Given the description of an element on the screen output the (x, y) to click on. 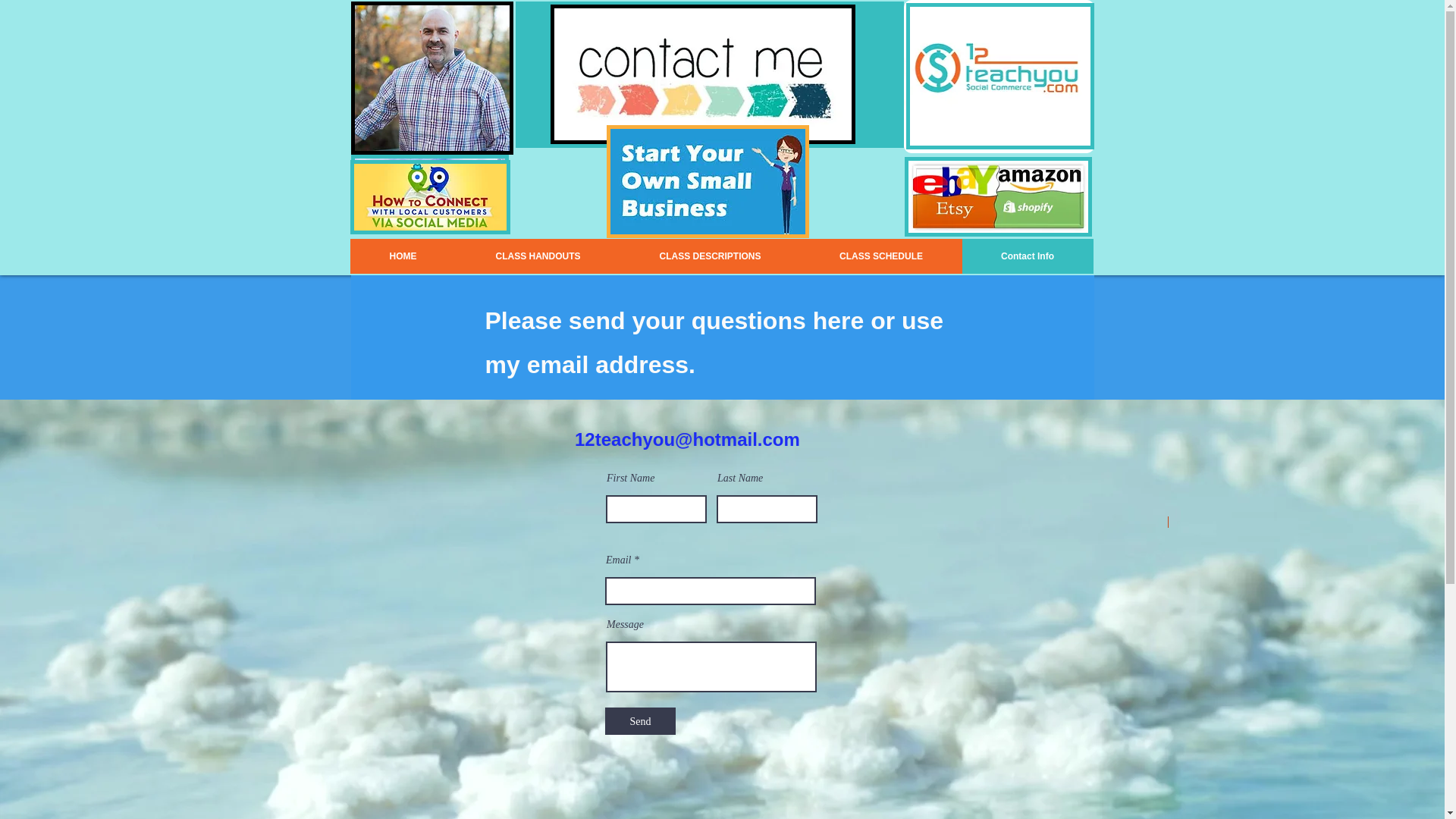
CLASS DESCRIPTIONS Element type: text (710, 255)
Contact Info Element type: text (1026, 255)
Send Element type: text (640, 720)
12teachyou@hotmail.com Element type: text (687, 439)
CLASS HANDOUTS Element type: text (538, 255)
images (10).jpg Element type: hover (707, 181)
index1.jpg Element type: hover (998, 76)
CLASS SCHEDULE Element type: text (881, 255)
Nick Hawks.jpg Element type: hover (431, 77)
HOME Element type: text (403, 255)
